Given the description of an element on the screen output the (x, y) to click on. 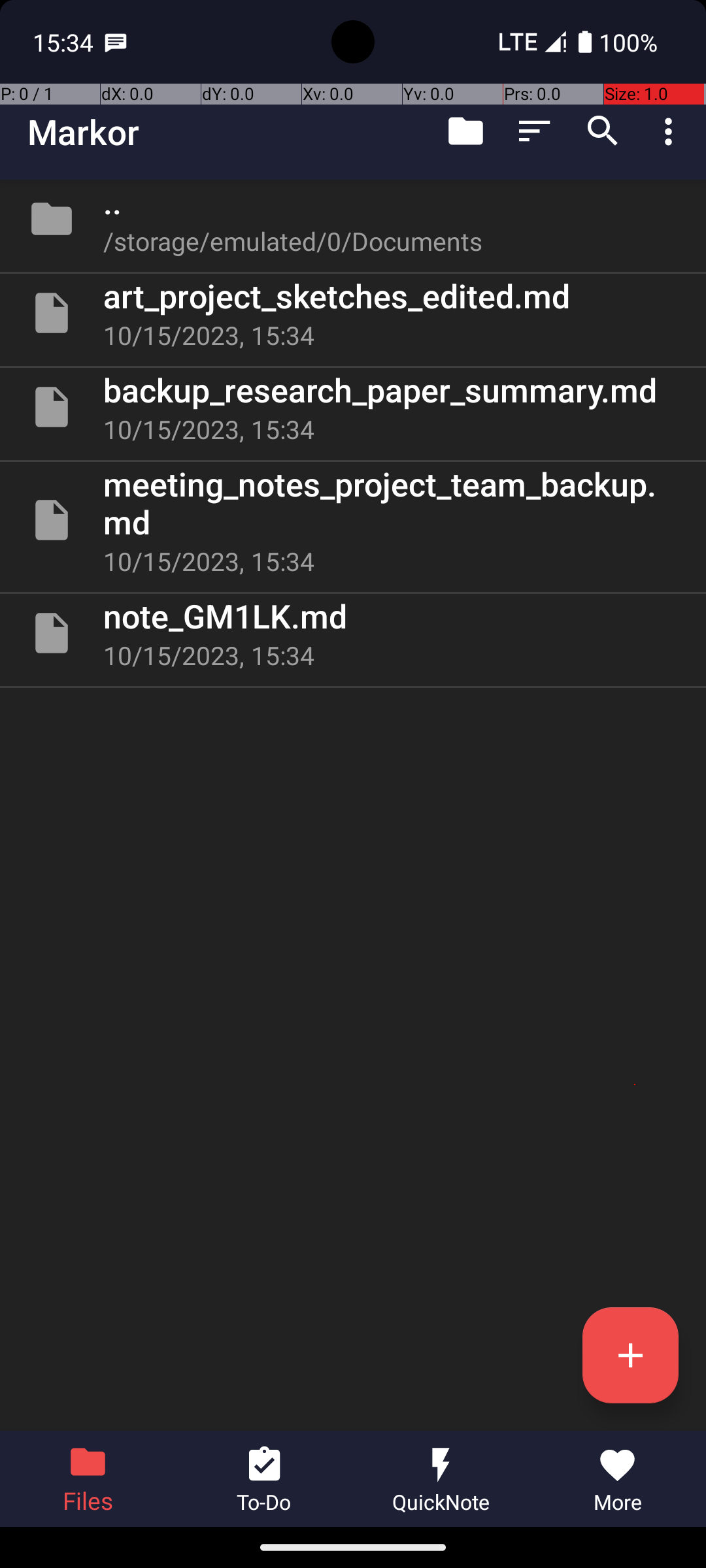
File art_project_sketches_edited.md  Element type: android.widget.LinearLayout (353, 312)
File backup_research_paper_summary.md  Element type: android.widget.LinearLayout (353, 406)
File meeting_notes_project_team_backup.md  Element type: android.widget.LinearLayout (353, 519)
File note_GM1LK.md  Element type: android.widget.LinearLayout (353, 632)
